Given the description of an element on the screen output the (x, y) to click on. 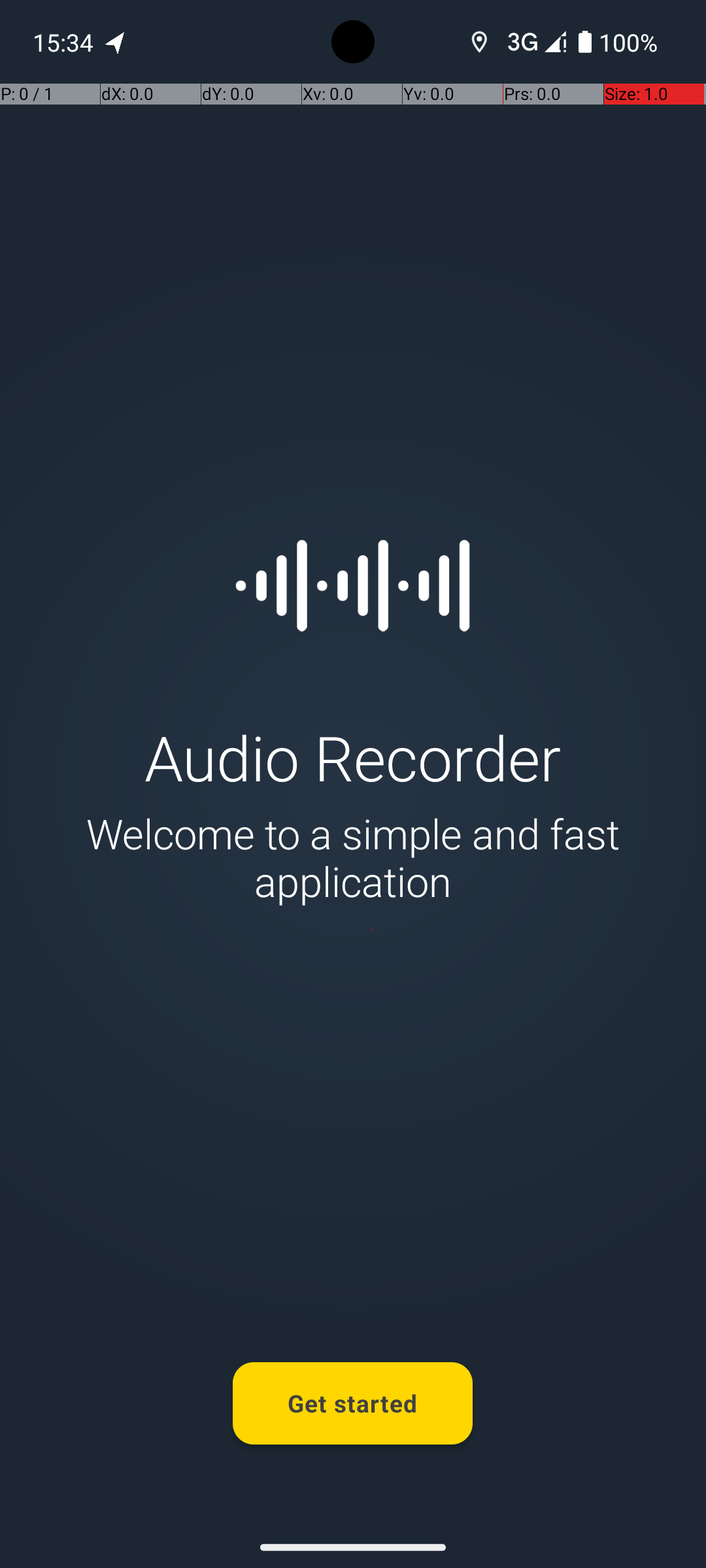
Get started Element type: android.widget.Button (352, 1403)
Audio Recorder Element type: android.widget.TextView (352, 756)
Welcome to a simple and fast application Element type: android.widget.TextView (352, 856)
OpenTracks notification: Distance: 0.00 ft Element type: android.widget.ImageView (115, 41)
Location requests active Element type: android.widget.ImageView (479, 41)
Phone three bars. Element type: android.widget.FrameLayout (534, 41)
